Given the description of an element on the screen output the (x, y) to click on. 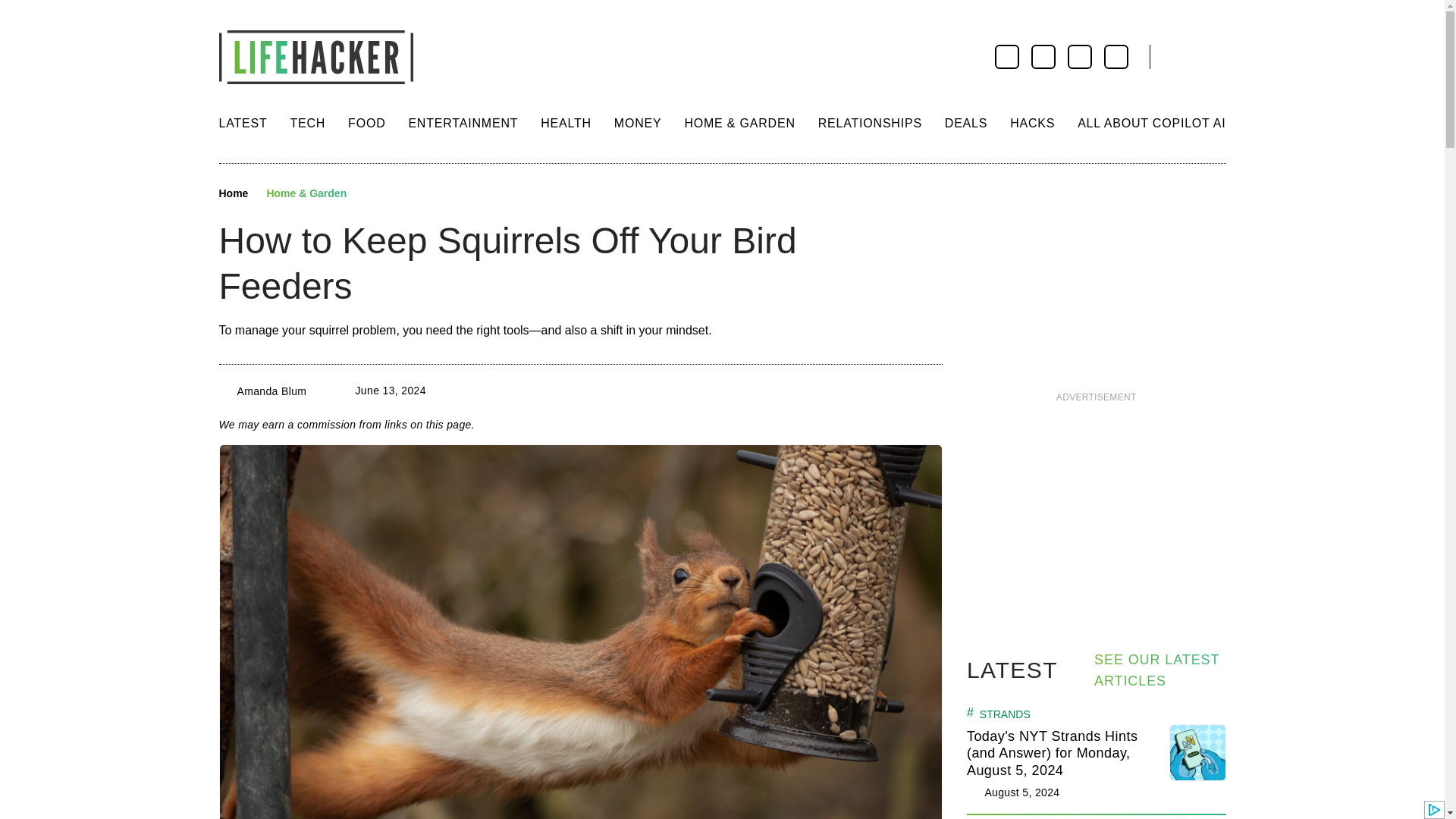
Home (232, 193)
ENTERTAINMENT (462, 123)
RELATIONSHIPS (869, 123)
Social Share (371, 193)
HEALTH (565, 123)
FOOD (366, 123)
LATEST (242, 123)
MONEY (638, 123)
TECH (306, 123)
HACKS (1032, 123)
DEALS (965, 123)
ALL ABOUT COPILOT AI (1151, 123)
